Given the description of an element on the screen output the (x, y) to click on. 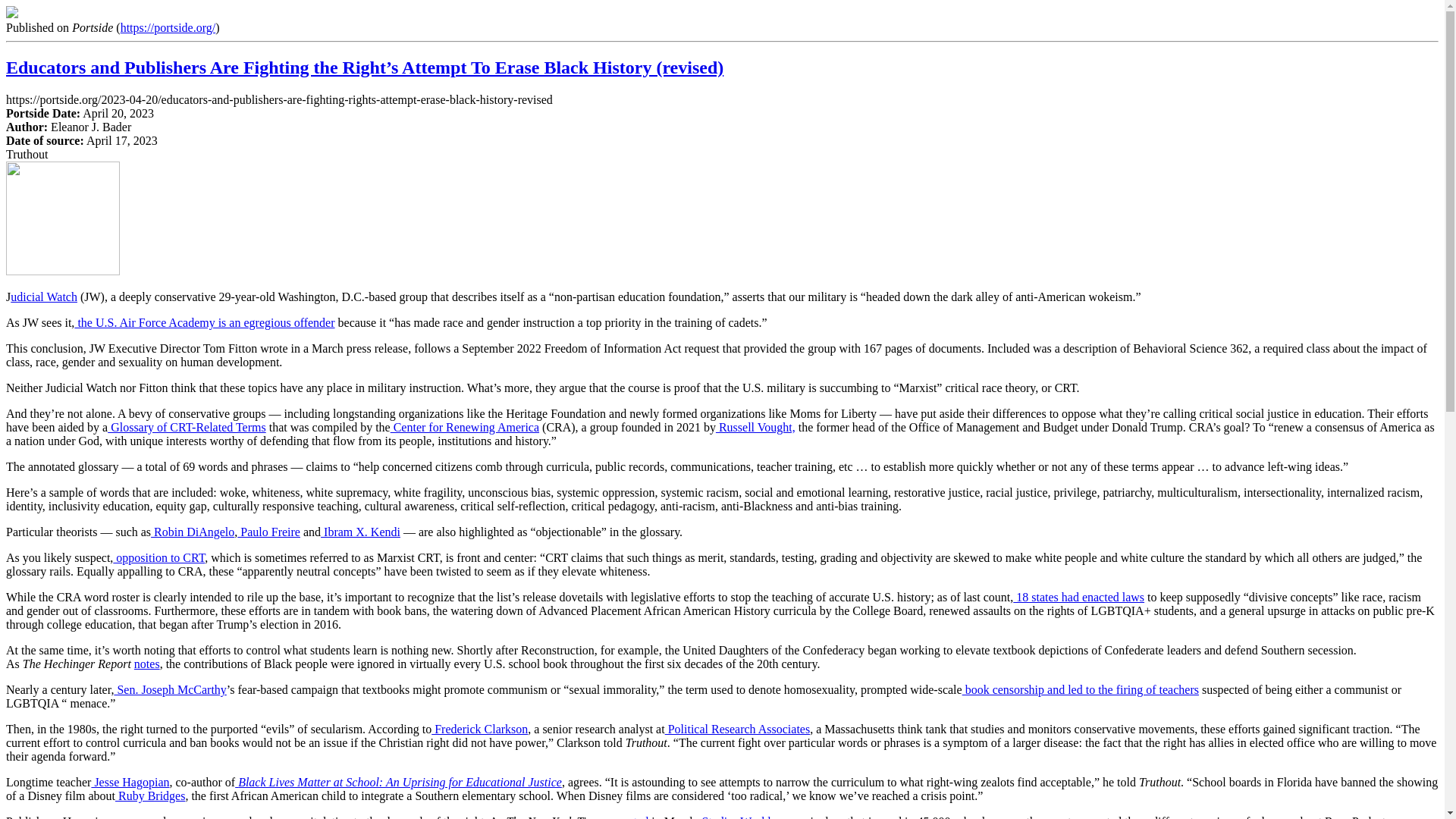
 Sen. Joseph McCarthy (169, 689)
notes (146, 663)
 Political Research Associates (737, 728)
 Studies Weekly, (738, 816)
 Ibram X. Kendi (360, 531)
 Frederick Clarkson (478, 728)
 Russell Vought, (755, 427)
 Paulo Freire (268, 531)
 Ruby Bridges (149, 795)
 Center for Renewing America (464, 427)
 opposition to CRT (159, 557)
 book censorship and led to the firing of teachers (1080, 689)
 Jesse Hagopian (129, 781)
 Glossary of CRT-Related Terms (186, 427)
